Given the description of an element on the screen output the (x, y) to click on. 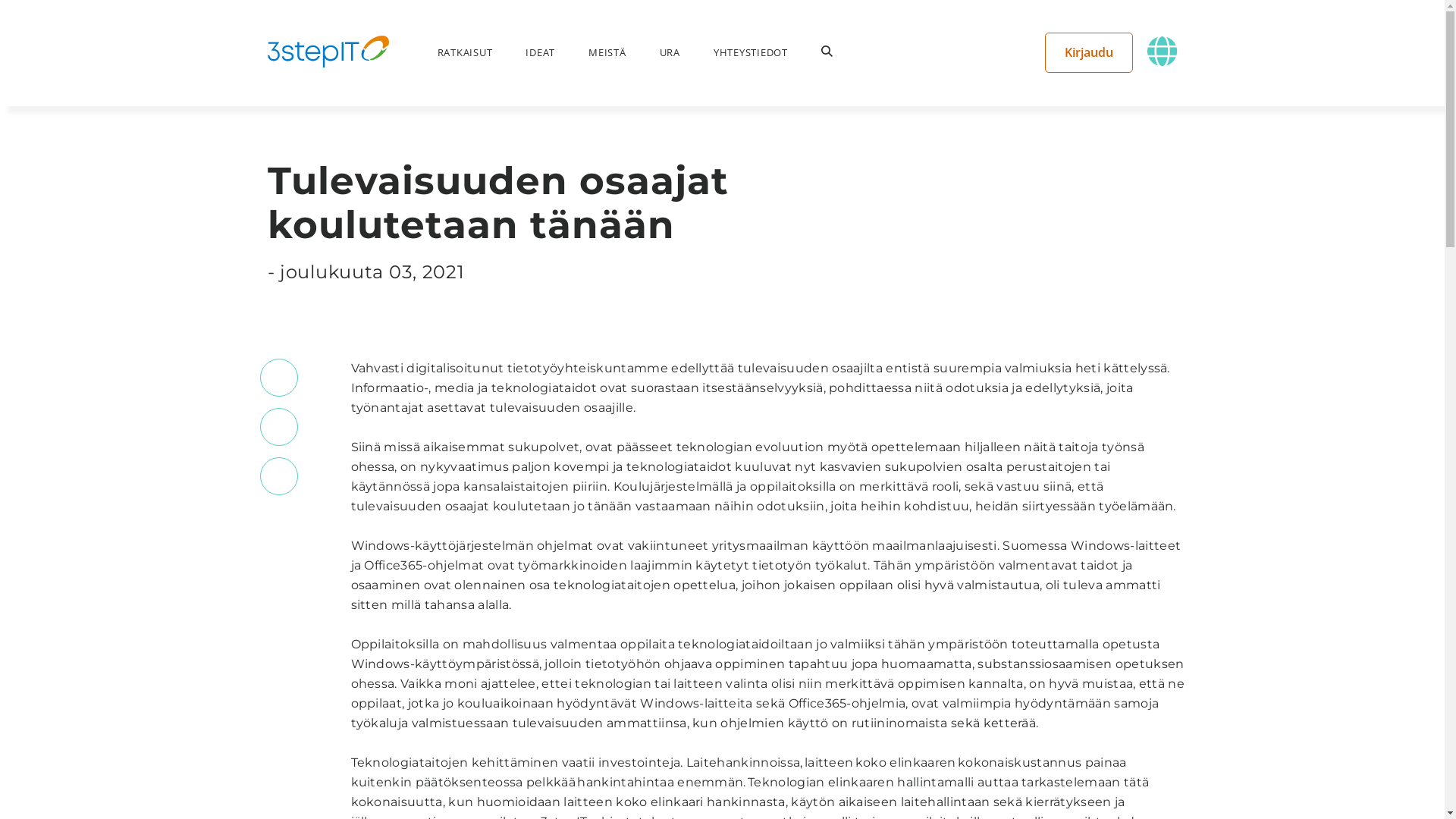
RATKAISUT Element type: text (464, 52)
URA Element type: text (669, 52)
YHTEYSTIEDOT Element type: text (750, 52)
IDEAT Element type: text (540, 52)
Kirjaudu Element type: text (1088, 52)
